Given the description of an element on the screen output the (x, y) to click on. 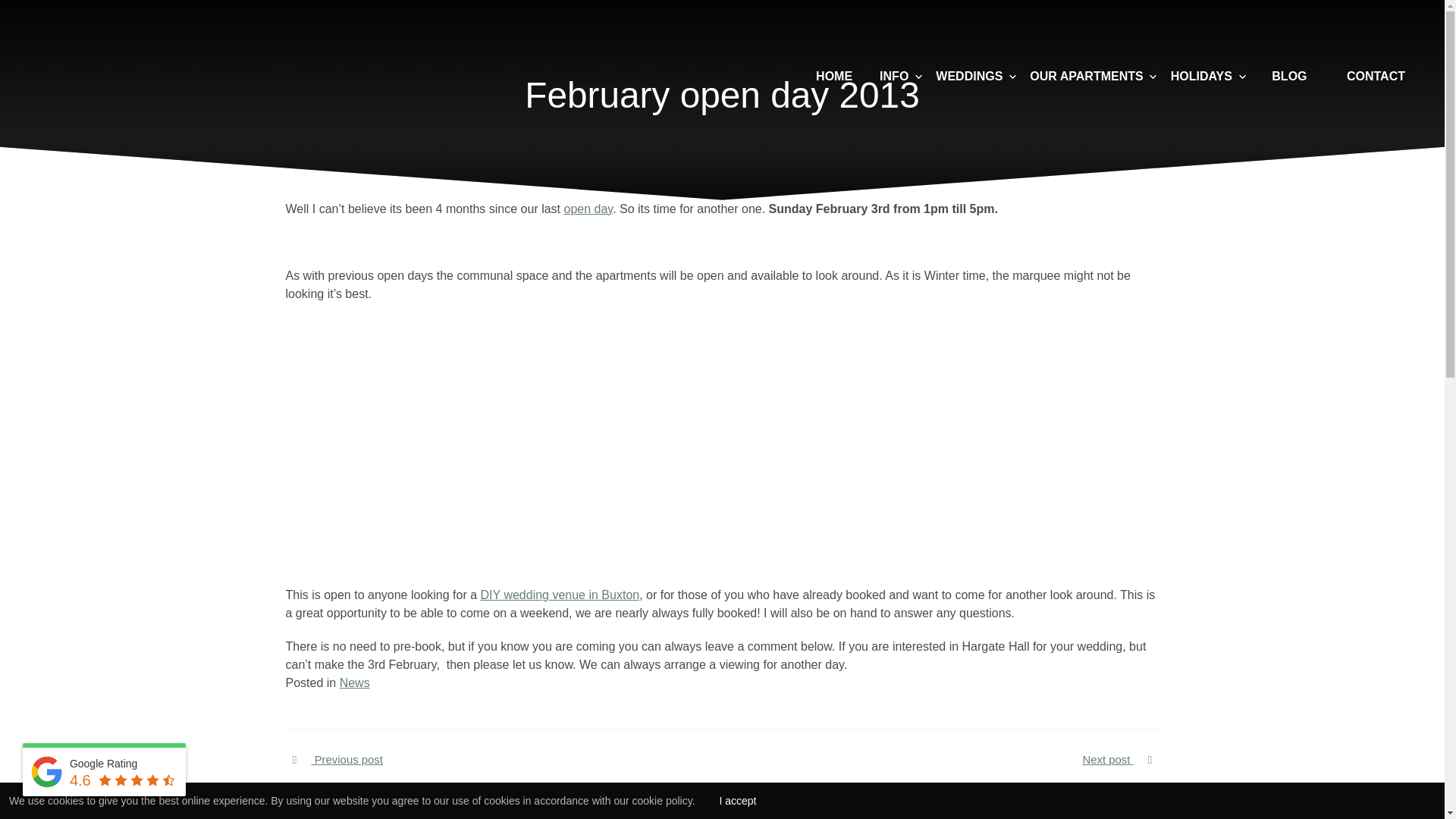
OUR APARTMENTS (1085, 75)
WEDDINGS (968, 75)
 HOME (832, 75)
INFO (893, 75)
HOLIDAYS (1201, 75)
Weddings (968, 75)
Home (832, 75)
Info (893, 75)
